Given the description of an element on the screen output the (x, y) to click on. 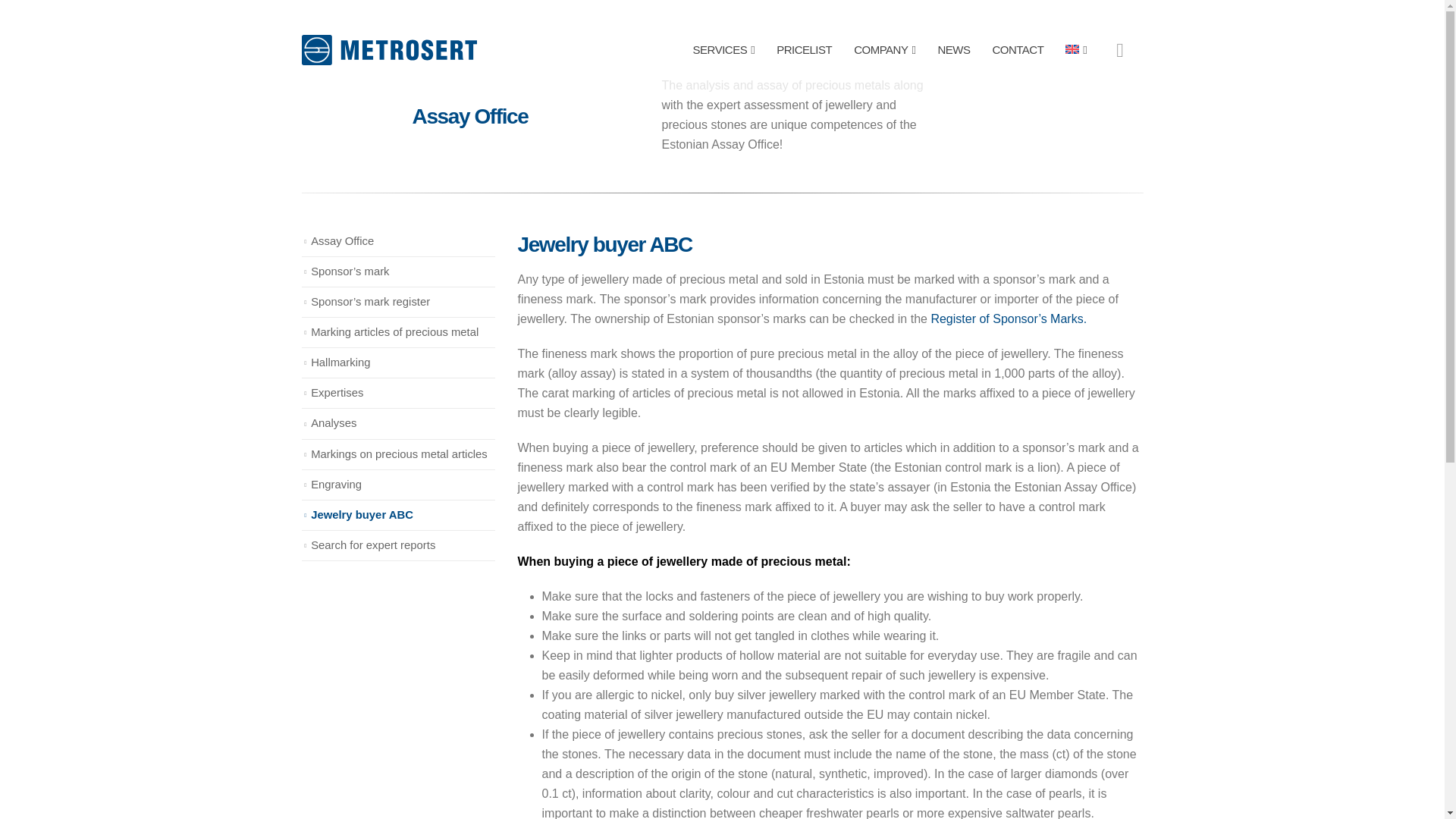
Metrosert -  (389, 50)
PRICELIST (804, 49)
COMPANY (884, 49)
NEWS (952, 49)
CONTACT (1017, 49)
SERVICES (723, 49)
